Given the description of an element on the screen output the (x, y) to click on. 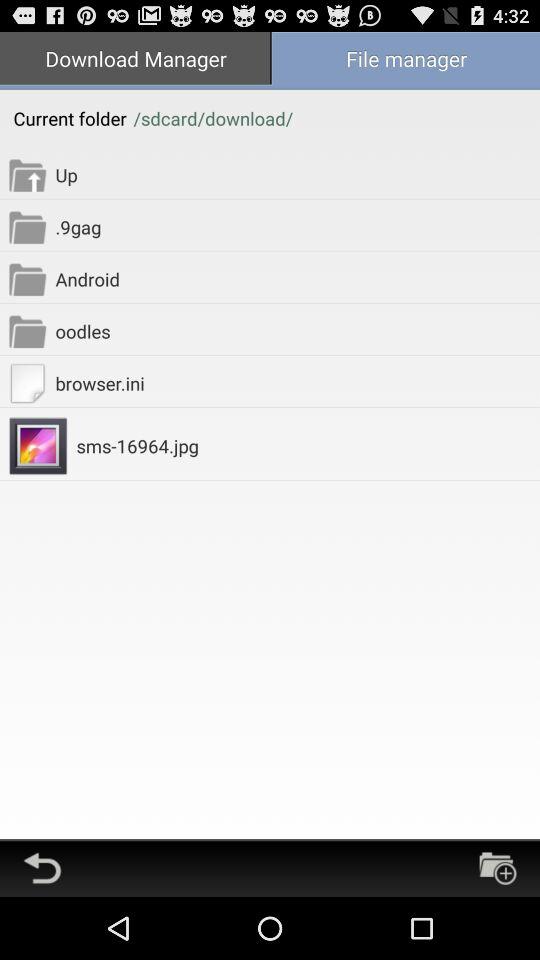
scroll to up (297, 174)
